Given the description of an element on the screen output the (x, y) to click on. 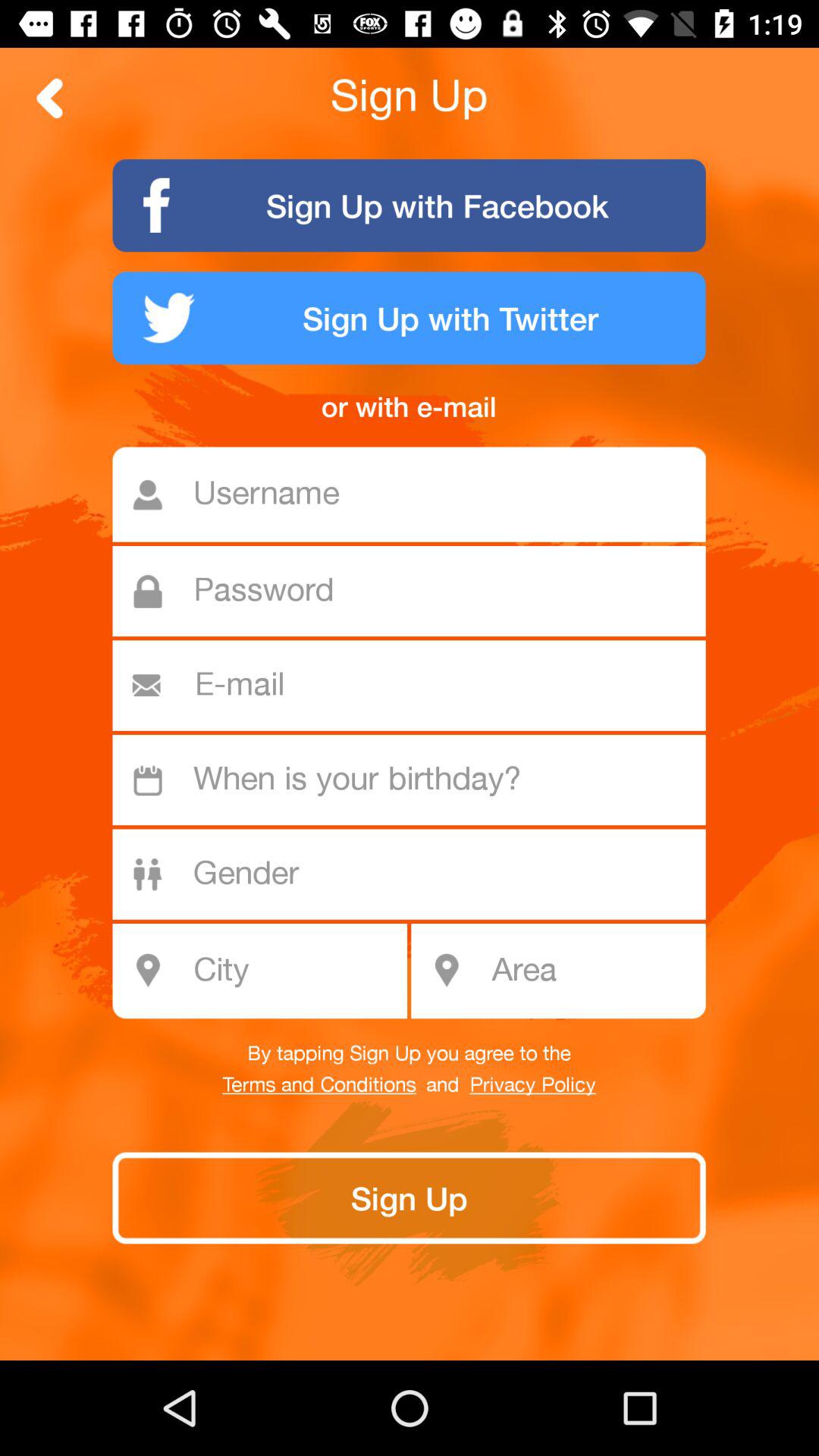
enter password (417, 591)
